Given the description of an element on the screen output the (x, y) to click on. 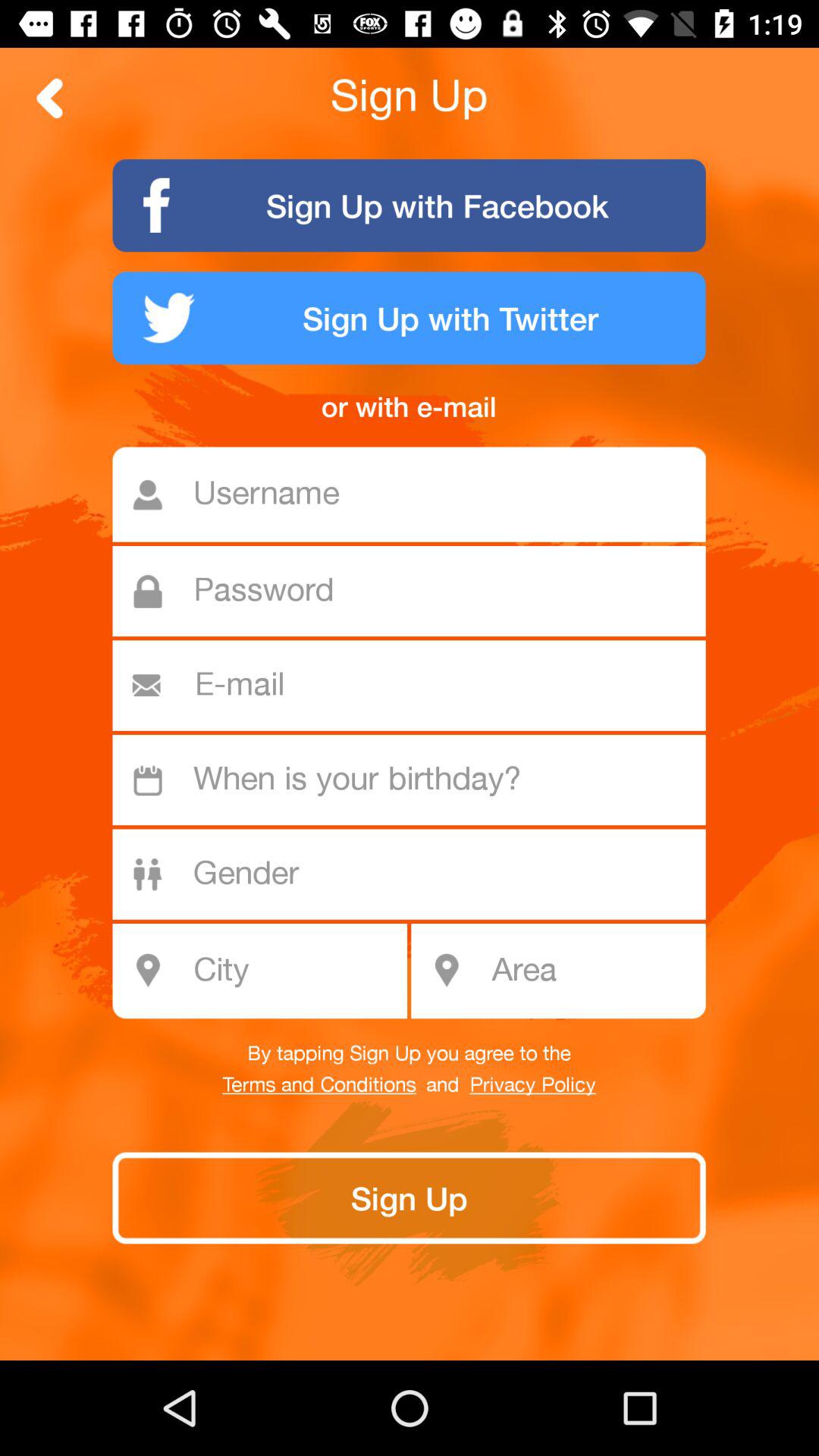
enter password (417, 591)
